Given the description of an element on the screen output the (x, y) to click on. 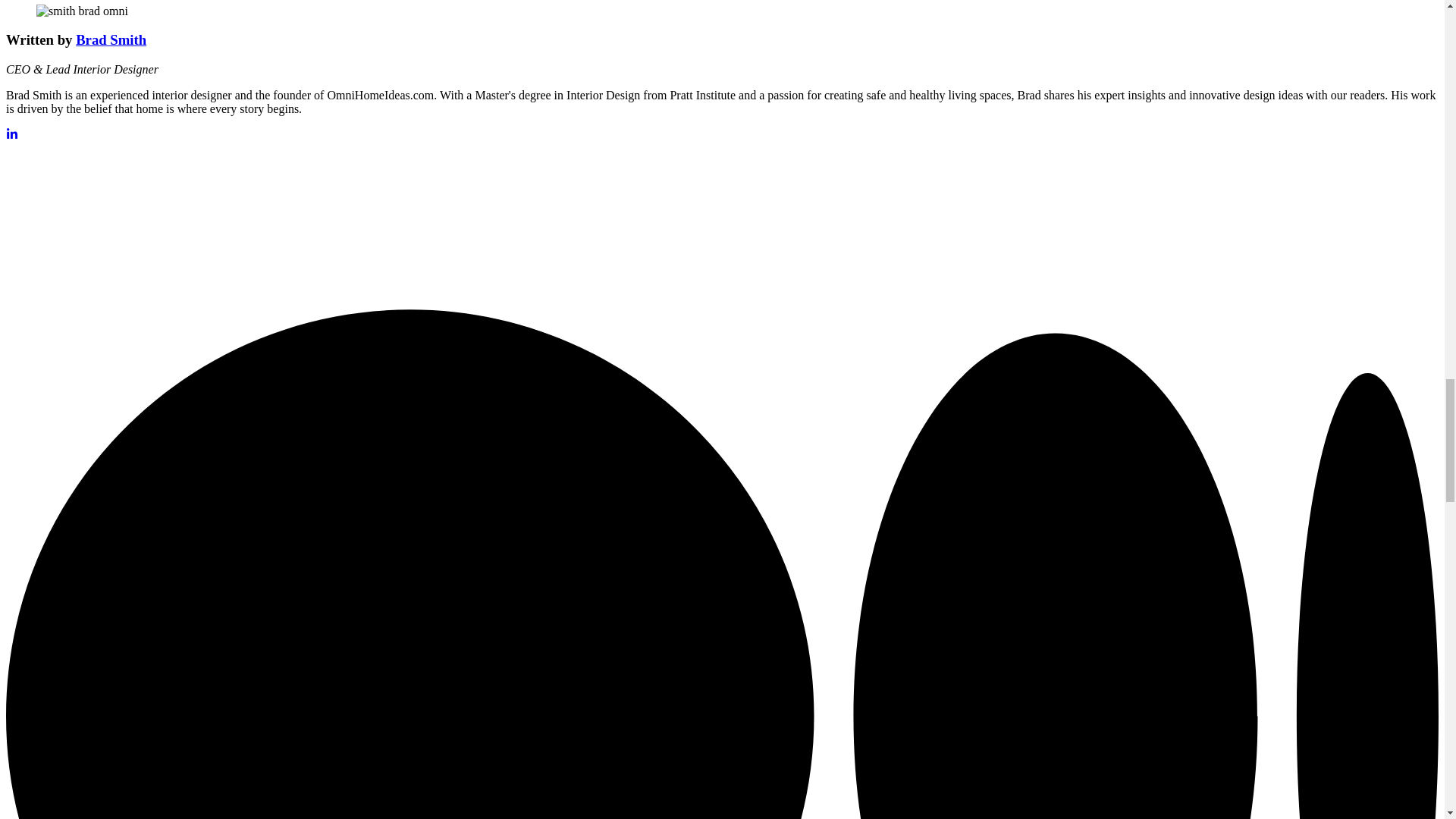
smith brad omni (82, 11)
Brad Smith (111, 39)
